Given the description of an element on the screen output the (x, y) to click on. 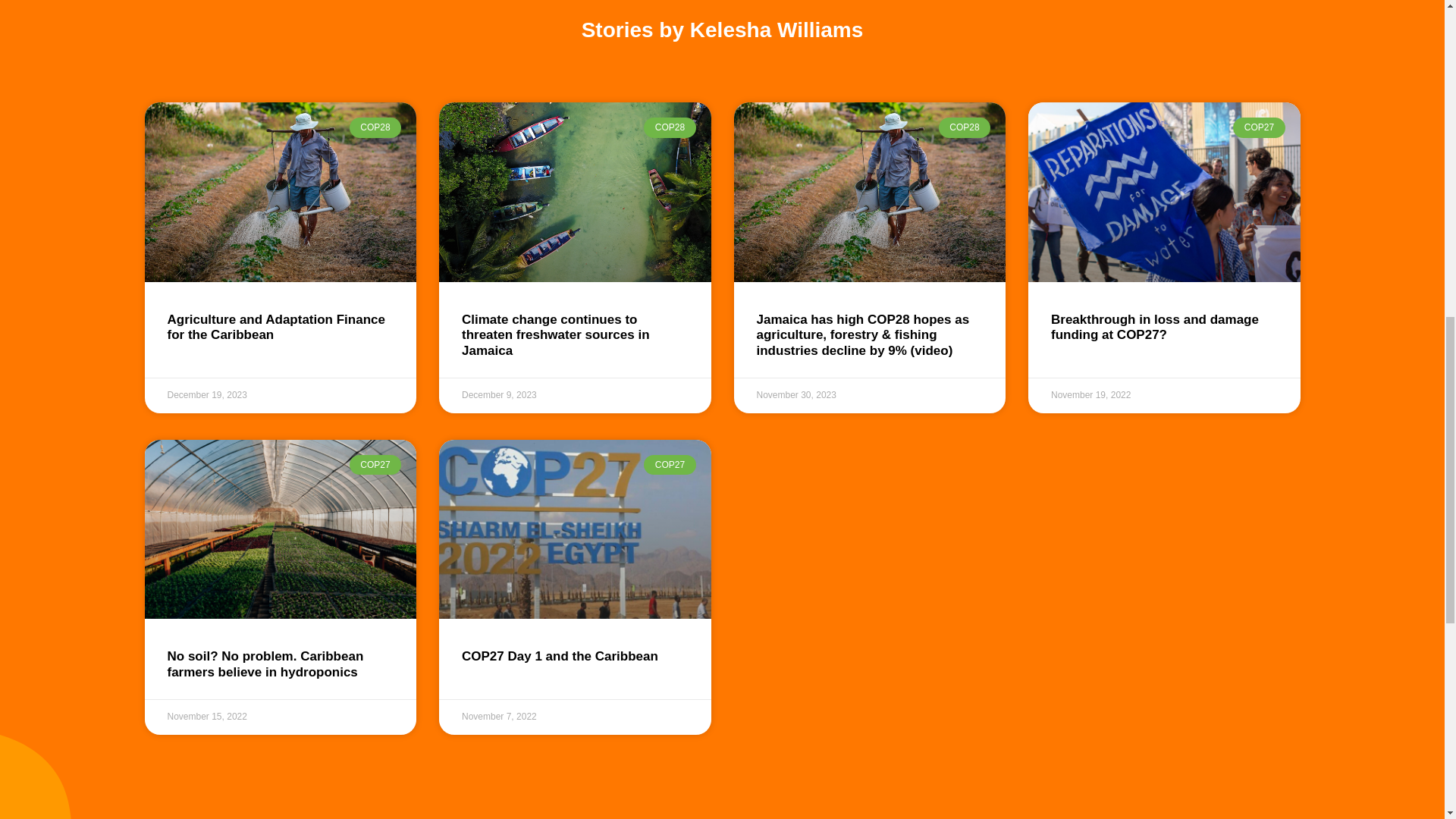
Breakthrough in loss and damage funding at COP27? (1155, 327)
Agriculture and Adaptation Finance for the Caribbean (275, 327)
